Given the description of an element on the screen output the (x, y) to click on. 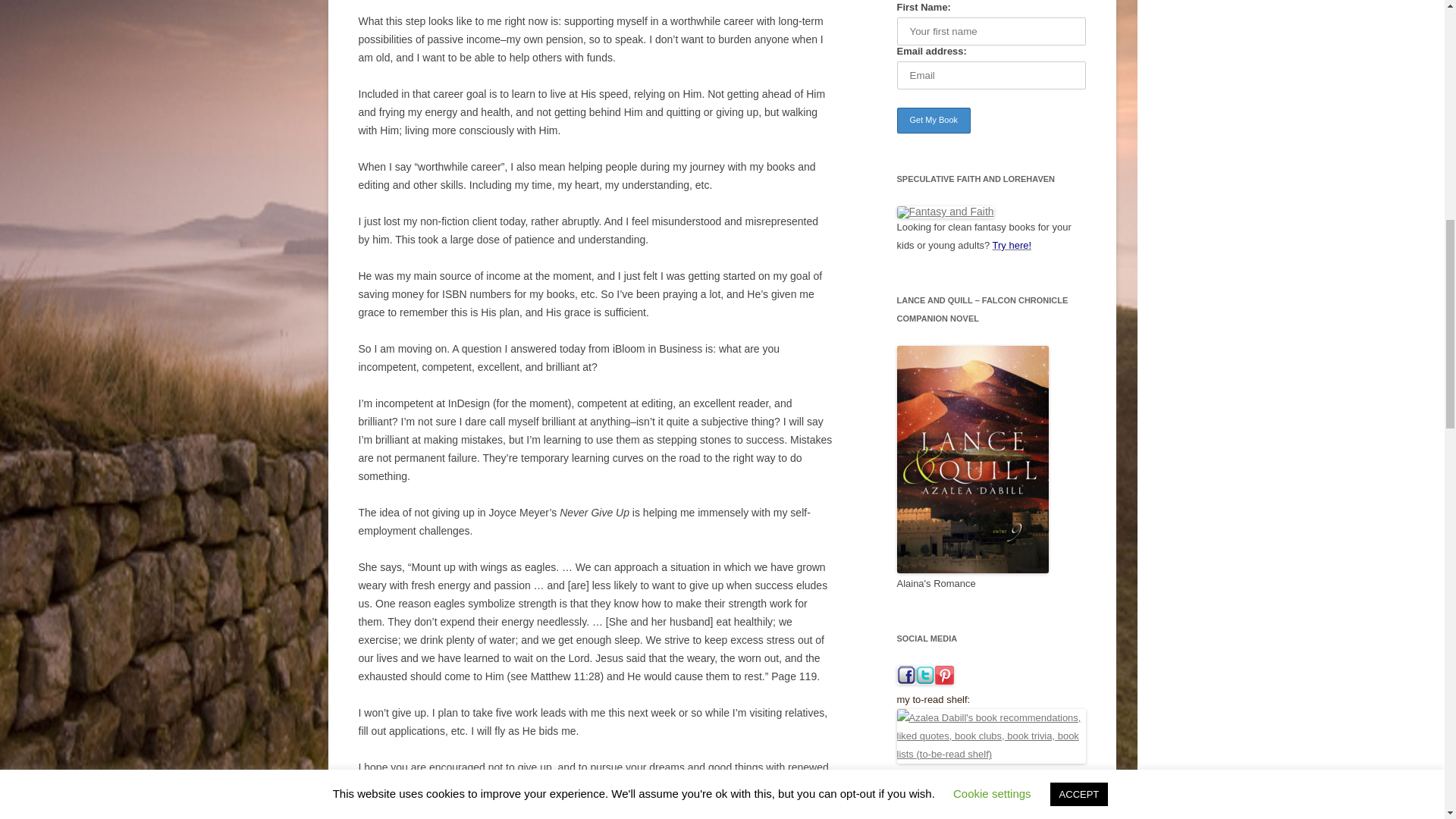
Get My Book (933, 120)
Fantasy and Faith (944, 212)
